Given the description of an element on the screen output the (x, y) to click on. 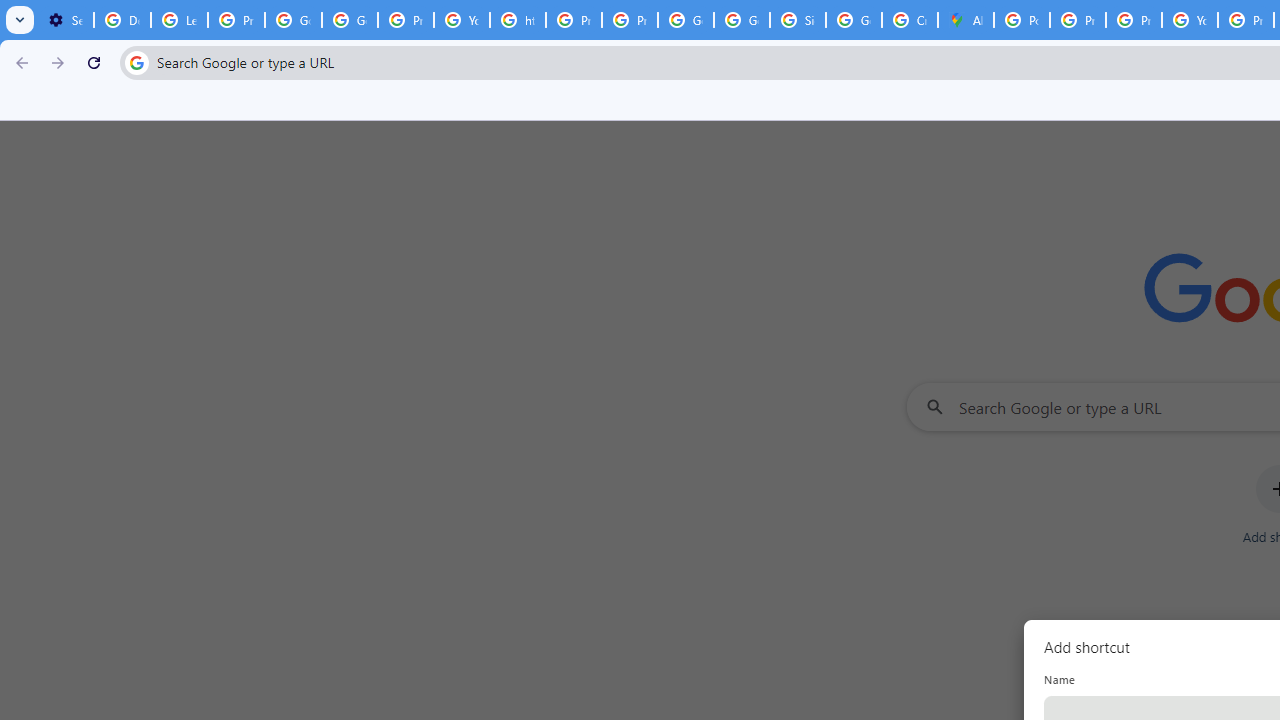
Sign in - Google Accounts (797, 20)
https://scholar.google.com/ (518, 20)
Policy Accountability and Transparency - Transparency Center (1021, 20)
Google Account Help (293, 20)
Settings - On startup (65, 20)
Delete photos & videos - Computer - Google Photos Help (122, 20)
Privacy Help Center - Policies Help (1077, 20)
Privacy Help Center - Policies Help (573, 20)
Learn how to find your photos - Google Photos Help (179, 20)
